Given the description of an element on the screen output the (x, y) to click on. 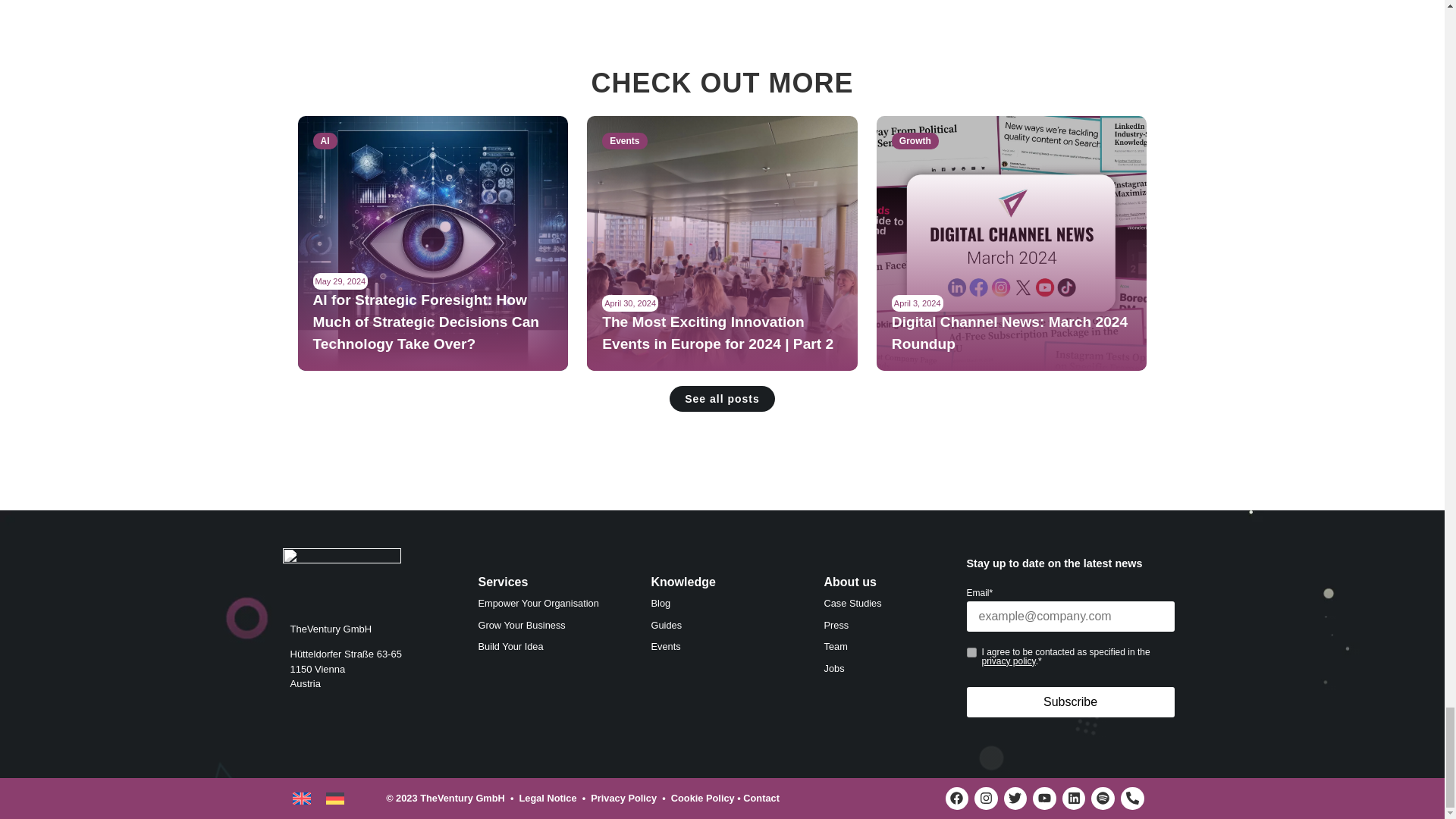
Subscribe (1069, 702)
true (970, 652)
